Given the description of an element on the screen output the (x, y) to click on. 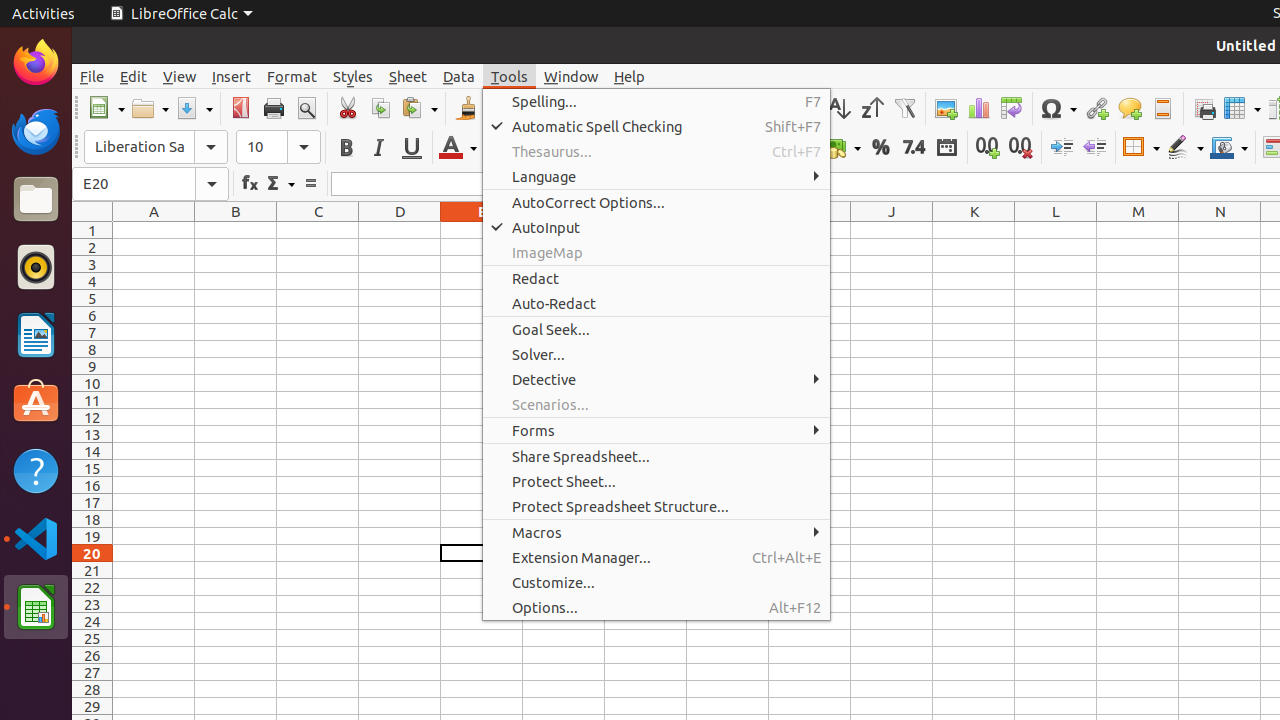
Print Area Element type: push-button (1203, 108)
Language Element type: menu (656, 176)
Forms Element type: menu (656, 430)
H1 Element type: table-cell (728, 230)
PDF Element type: push-button (240, 108)
